Given the description of an element on the screen output the (x, y) to click on. 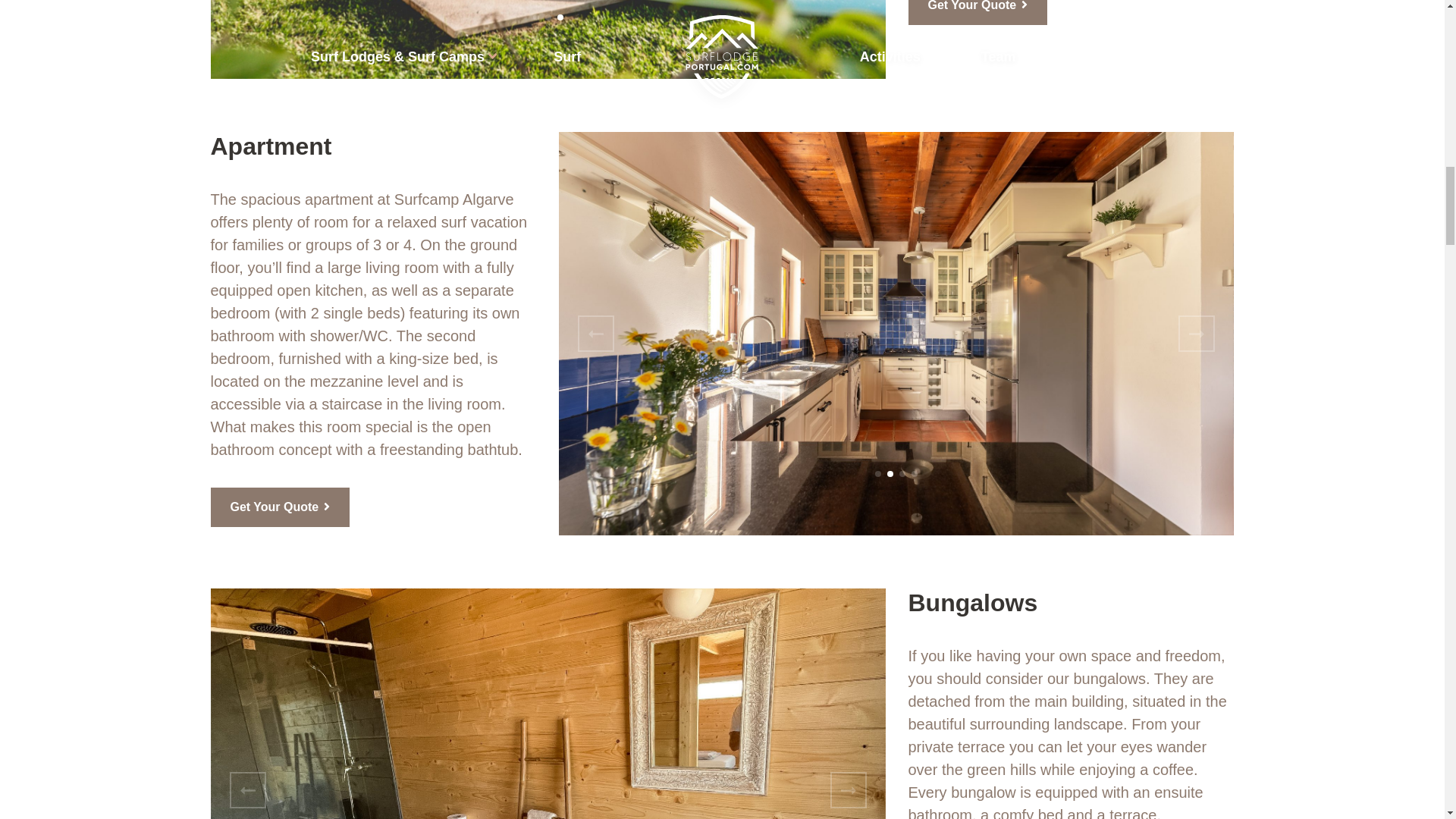
Get Your Quote (280, 507)
Get Your Quote (978, 12)
Get Your Quote (978, 12)
Get Your Quote (280, 507)
